Given the description of an element on the screen output the (x, y) to click on. 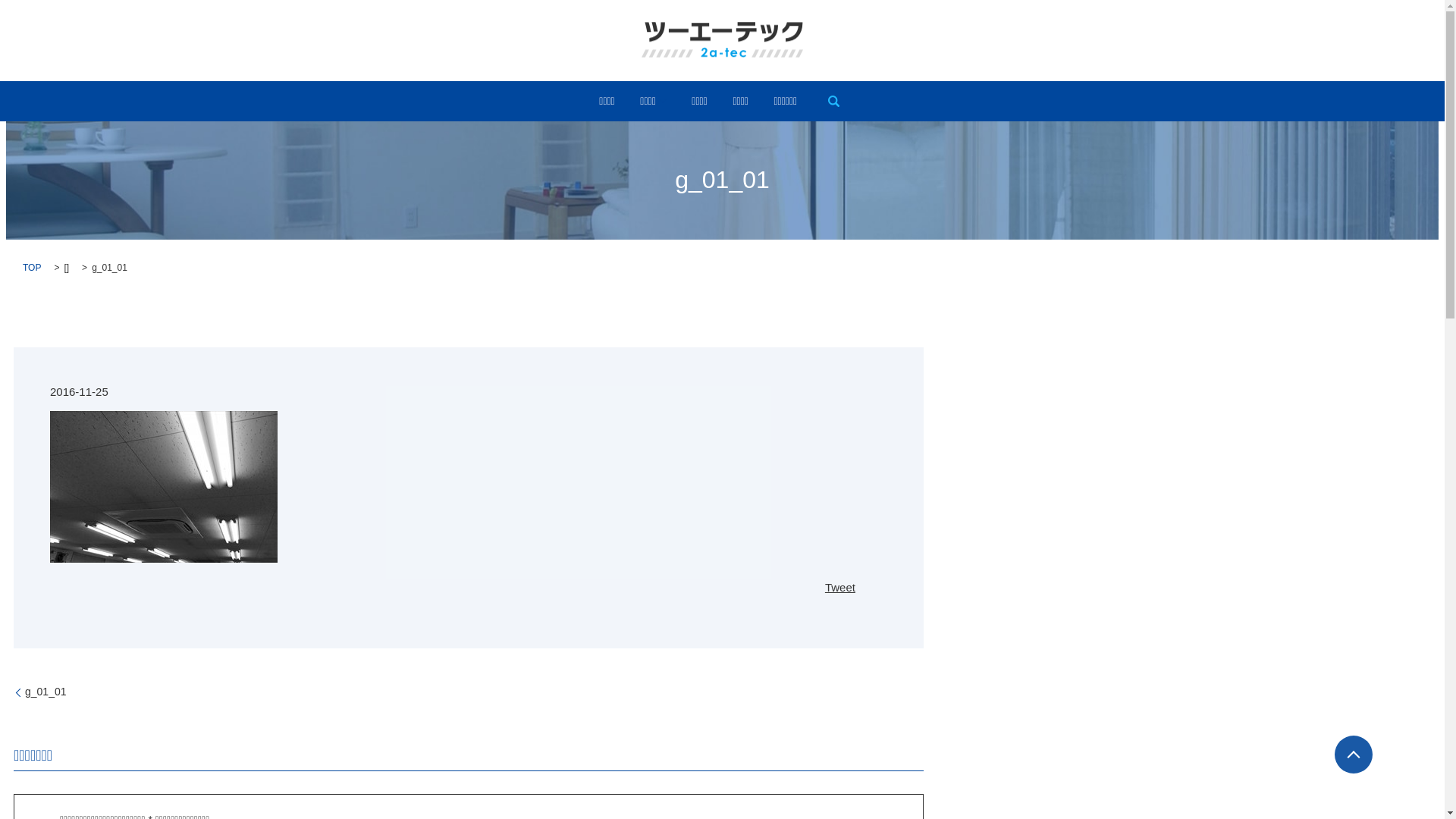
search Element type: text (833, 100)
TOP Element type: text (31, 267)
g_01_01 Element type: text (39, 691)
Tweet Element type: text (840, 586)
